Given the description of an element on the screen output the (x, y) to click on. 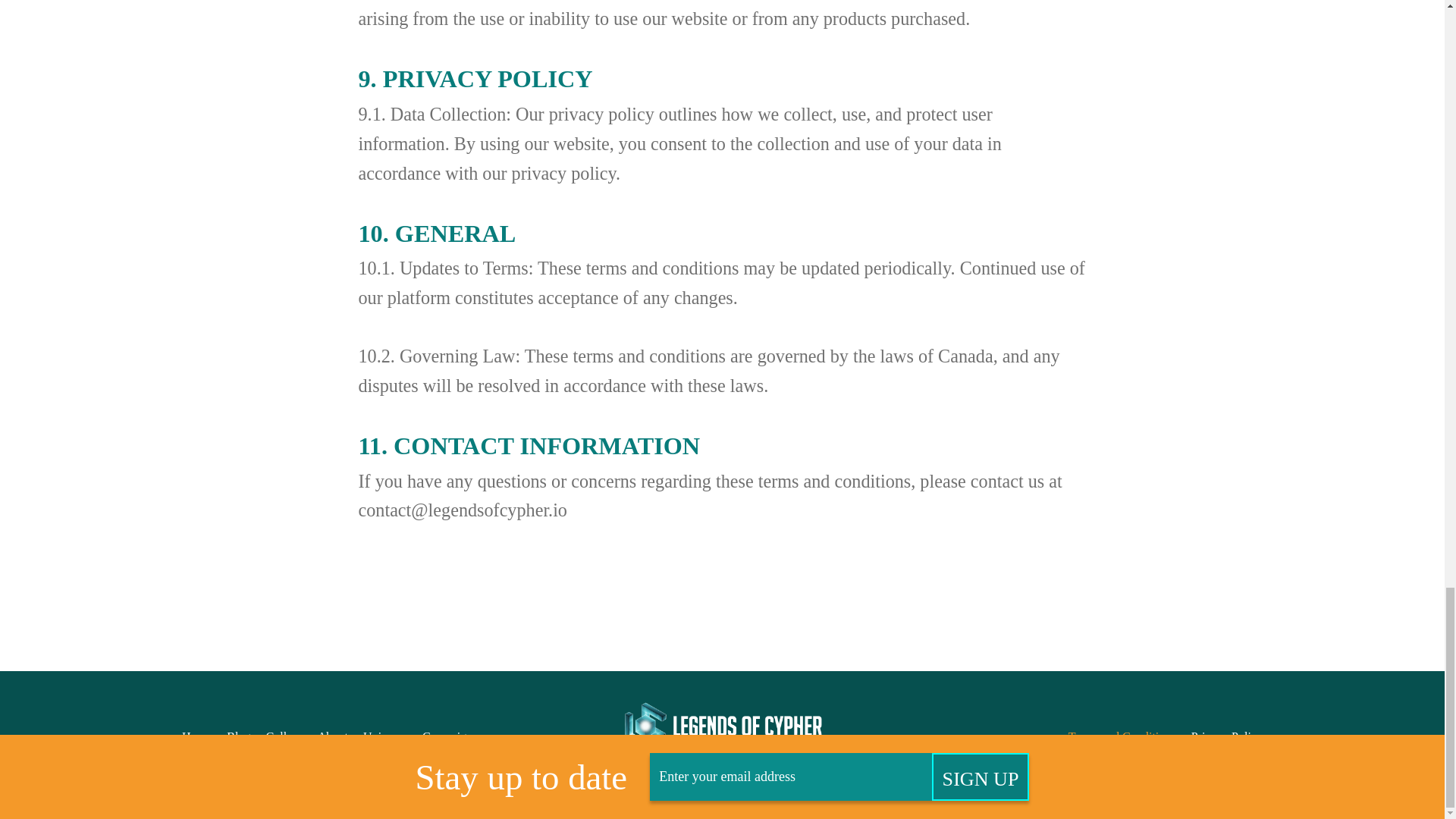
Terms and Conditions (1122, 736)
Blog (238, 736)
Home (196, 736)
Privacy Policy (1226, 736)
Campaign (446, 736)
About (332, 736)
Universe (384, 736)
Gallery (282, 736)
